Given the description of an element on the screen output the (x, y) to click on. 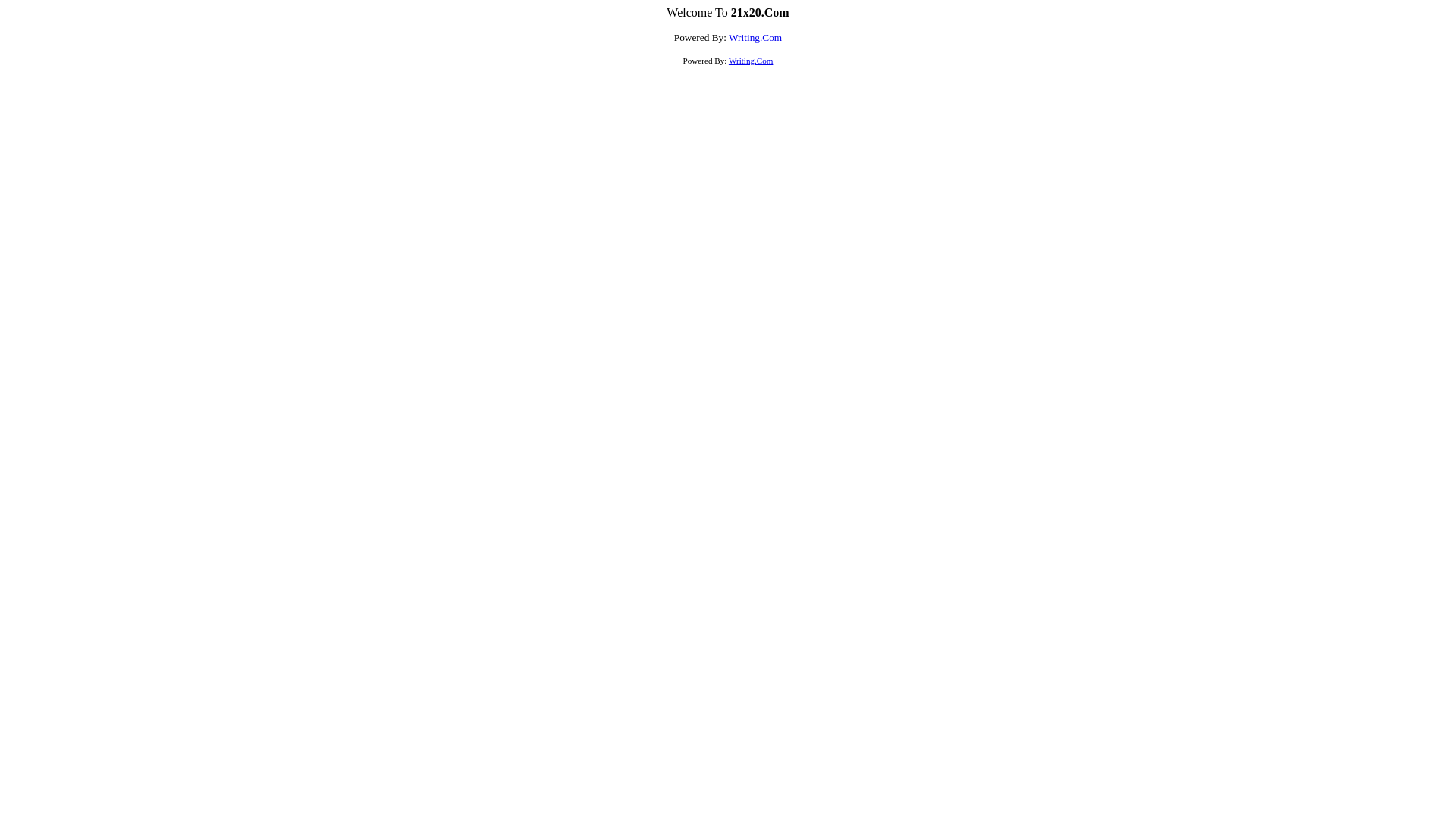
Writing.Com Element type: text (750, 60)
Writing.Com Element type: text (754, 37)
